Given the description of an element on the screen output the (x, y) to click on. 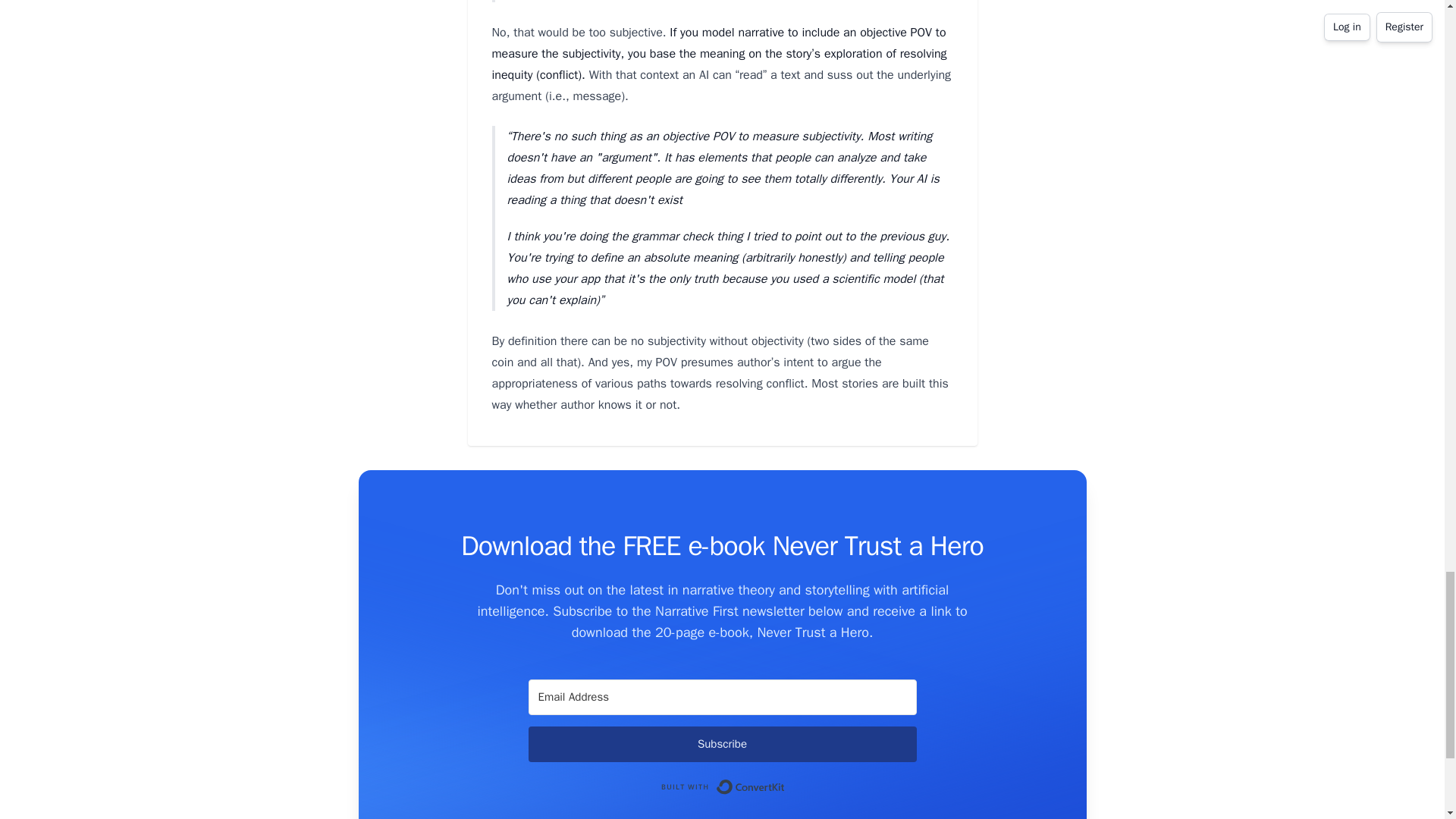
Built with ConvertKit (722, 786)
Subscribe (721, 744)
